Given the description of an element on the screen output the (x, y) to click on. 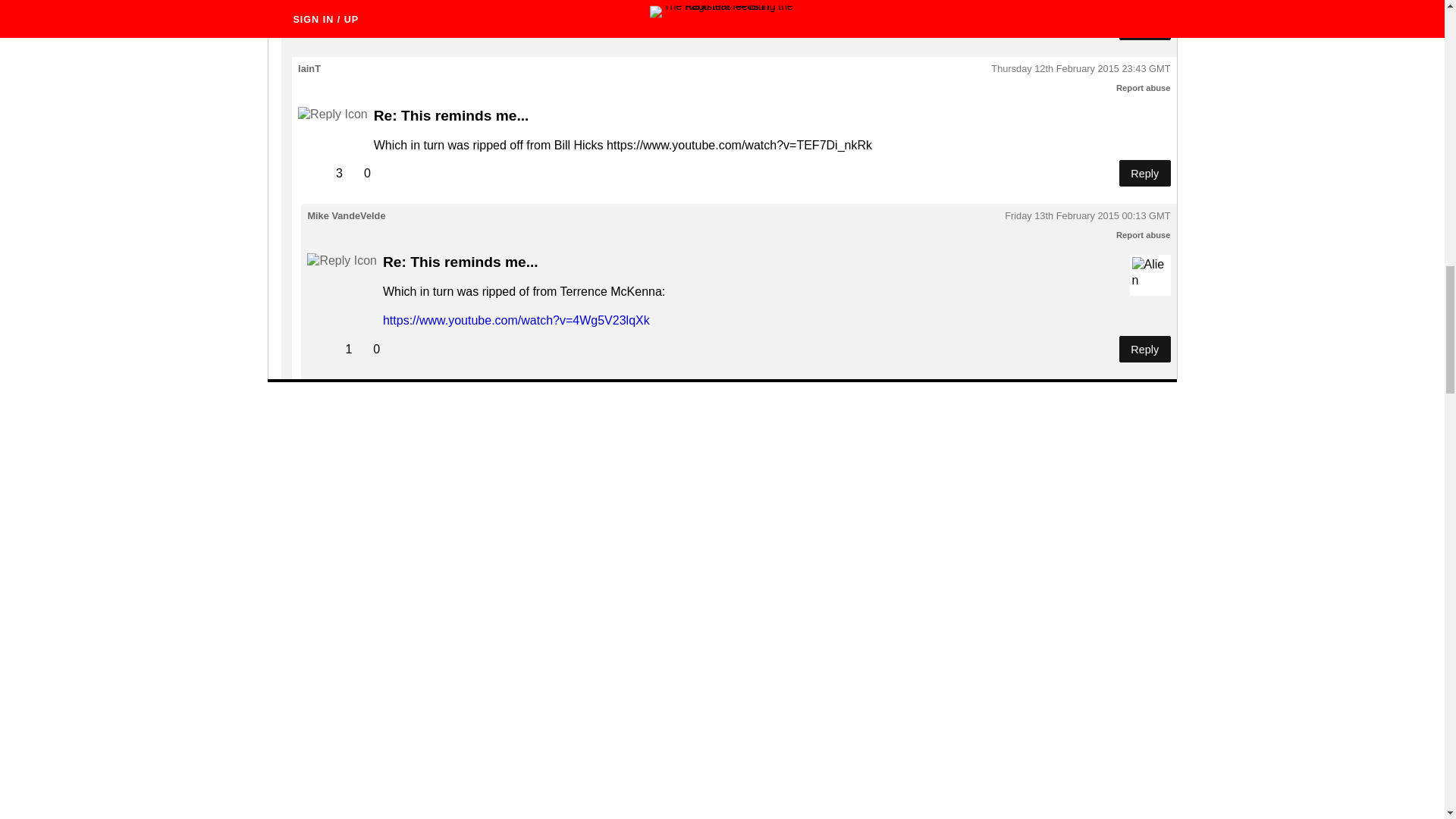
Report abuse (1143, 87)
Report abuse (1143, 234)
